Given the description of an element on the screen output the (x, y) to click on. 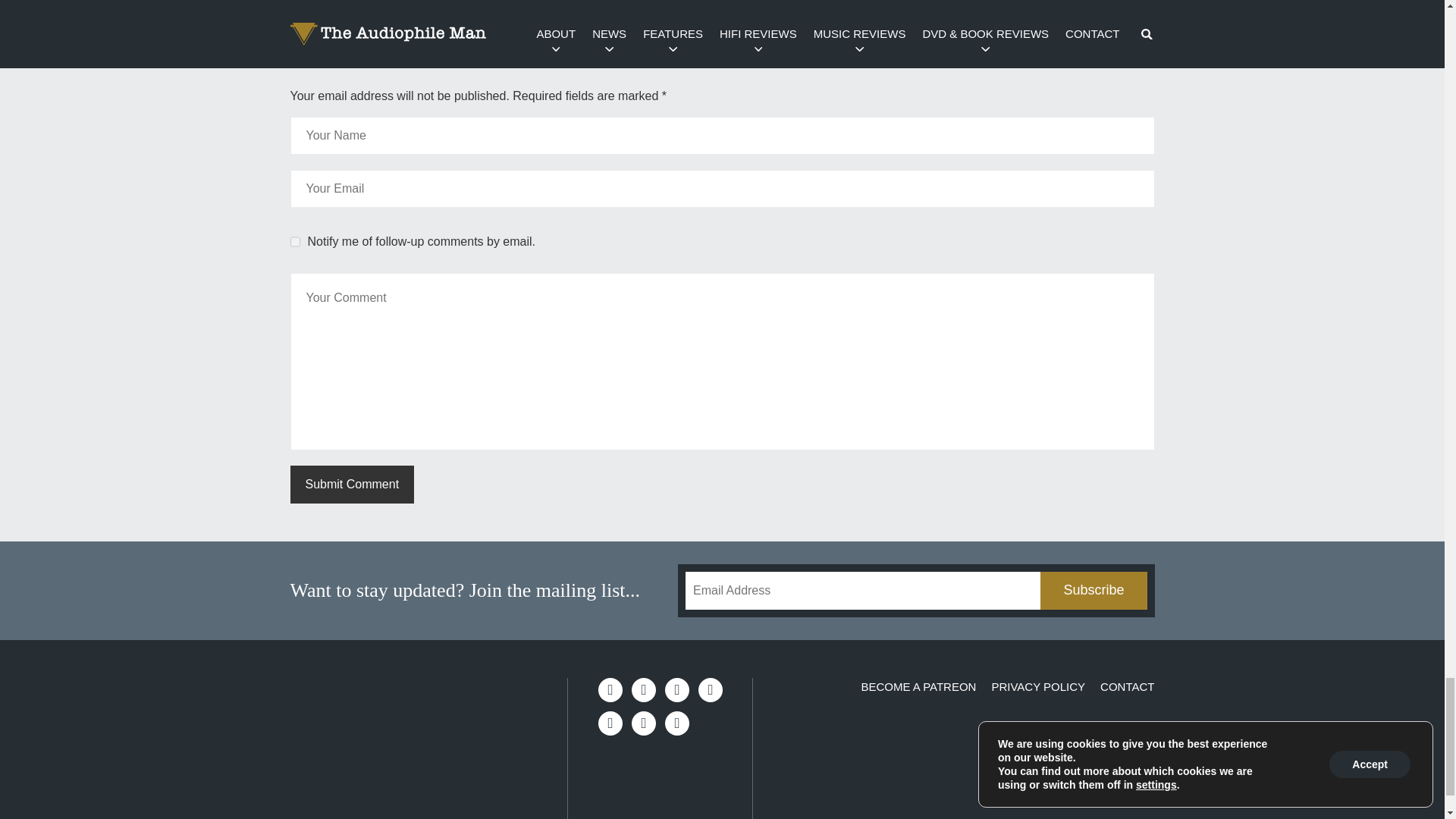
Submit Comment (351, 484)
